Given the description of an element on the screen output the (x, y) to click on. 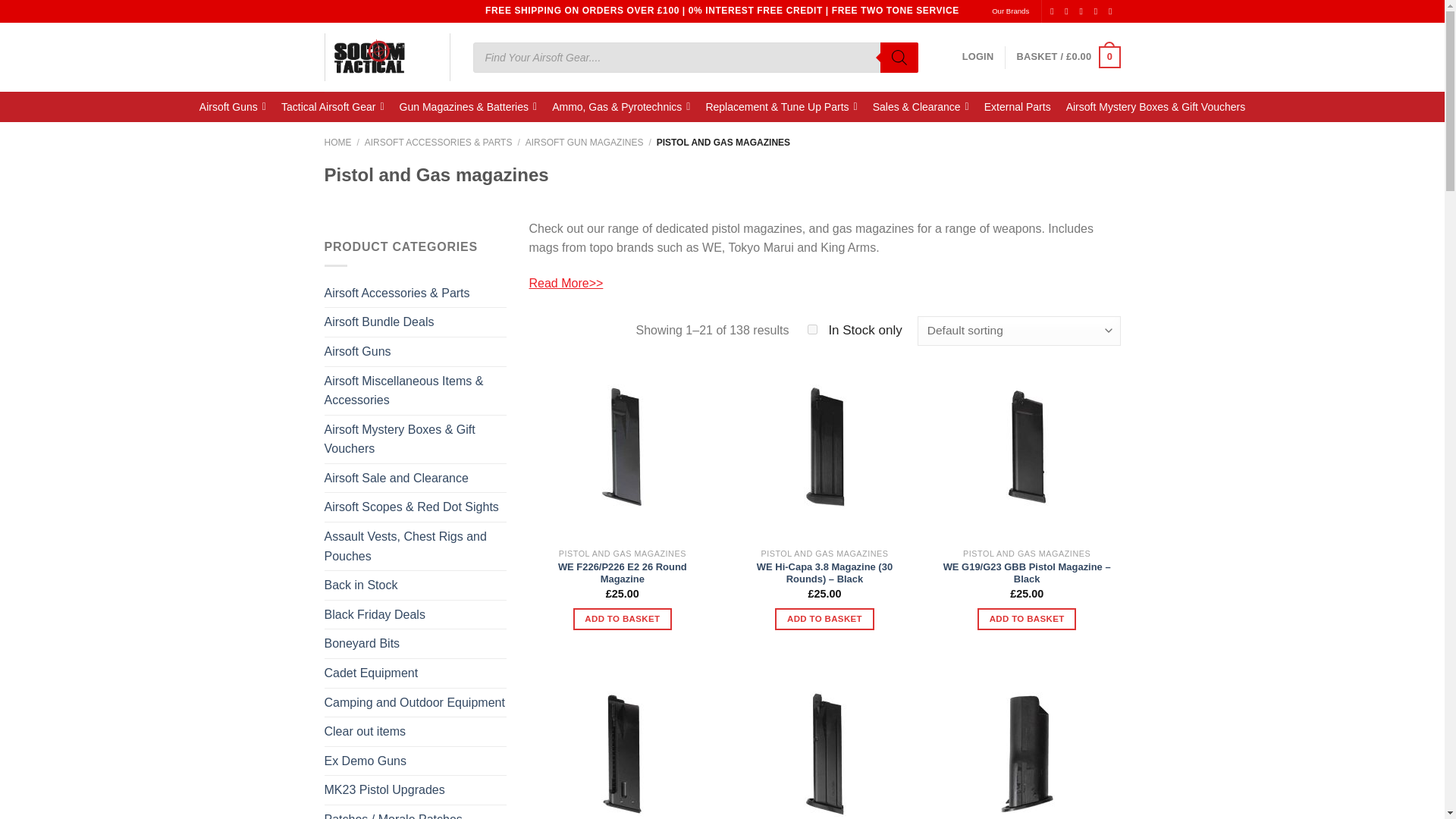
LOGIN (978, 56)
Basket (1067, 57)
instock (812, 329)
Tactical Airsoft Gear (332, 106)
Our Brands (1010, 10)
Airsoft Guns (232, 106)
